Given the description of an element on the screen output the (x, y) to click on. 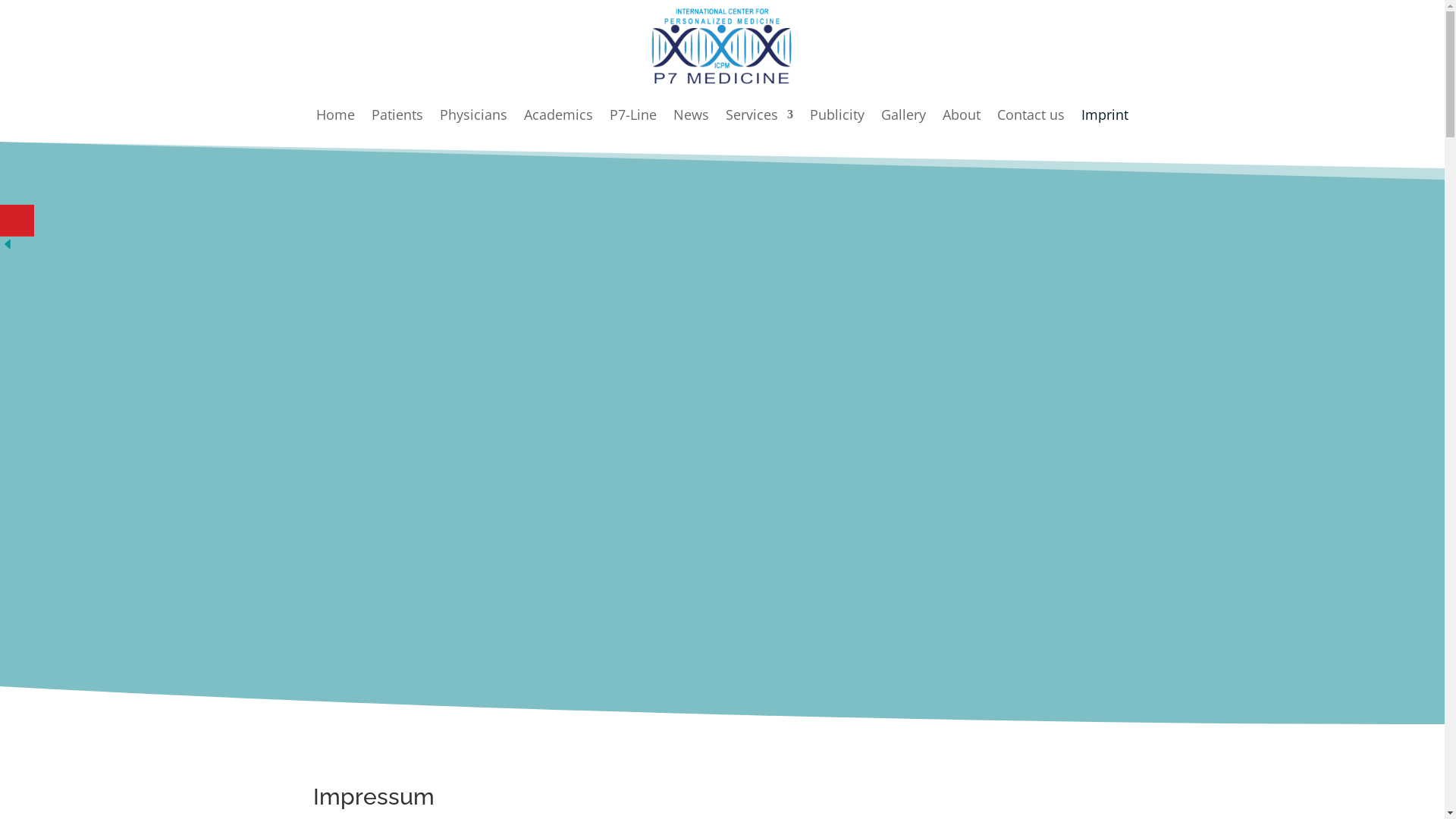
Contact us Element type: text (1030, 125)
About Element type: text (961, 125)
Imprint Element type: text (1104, 125)
P7-Line Element type: text (632, 125)
Physicians Element type: text (473, 125)
Gallery Element type: text (903, 125)
Publicity Element type: text (836, 125)
Share This With Your Friends Element type: hover (18, 230)
News Element type: text (691, 125)
Services Element type: text (759, 125)
Patients Element type: text (397, 125)
Share On Youtube Element type: hover (17, 220)
Academics Element type: text (558, 125)
Home Element type: text (335, 125)
Hide Buttons Element type: hover (7, 247)
